Given the description of an element on the screen output the (x, y) to click on. 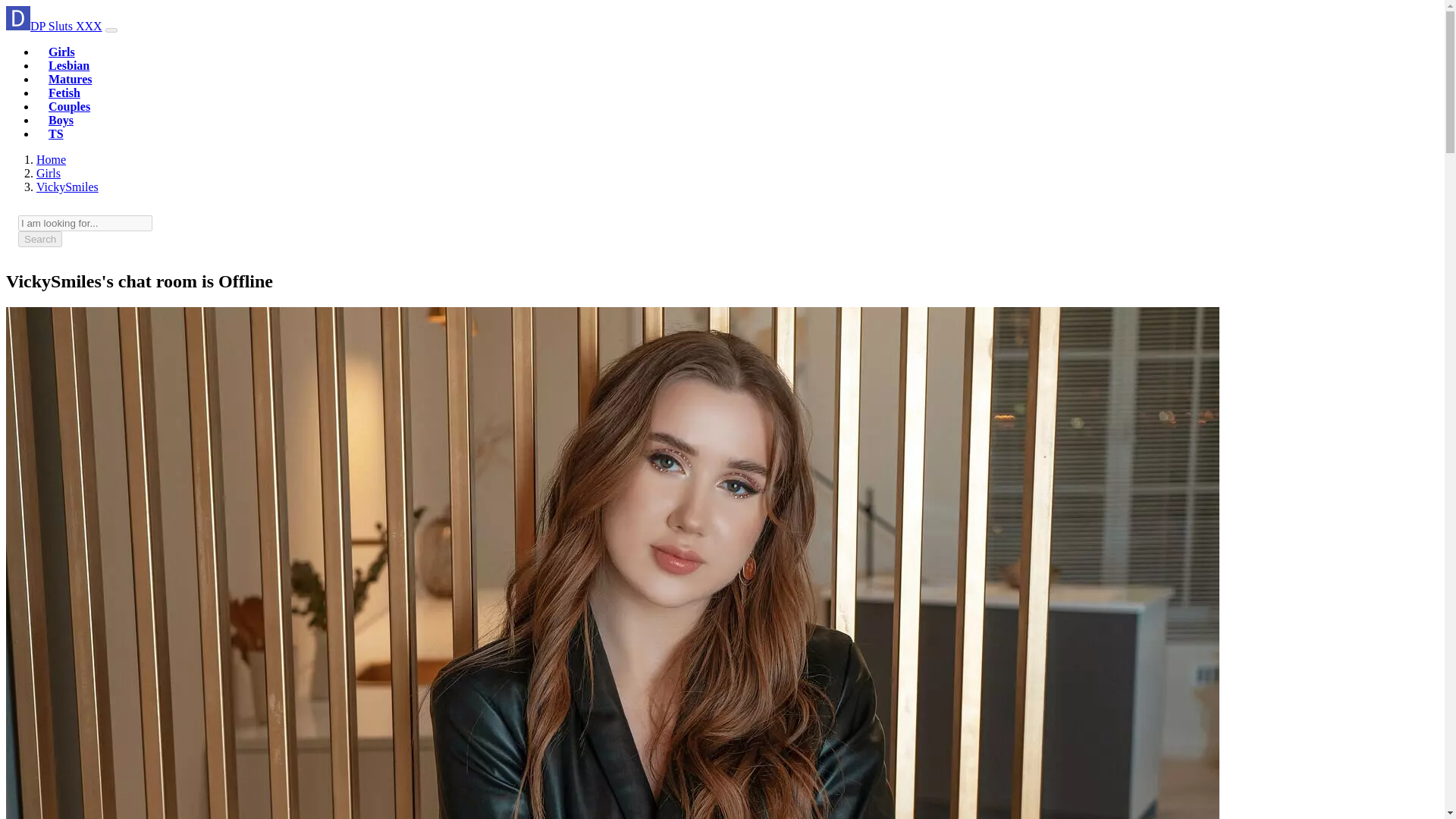
Lesbian (68, 65)
Couples (69, 106)
Boys (61, 119)
Matures (69, 78)
VickySmiles (67, 186)
Fetish (64, 92)
Home (50, 159)
Girls (48, 173)
Girls (61, 51)
Matures (69, 78)
